Given the description of an element on the screen output the (x, y) to click on. 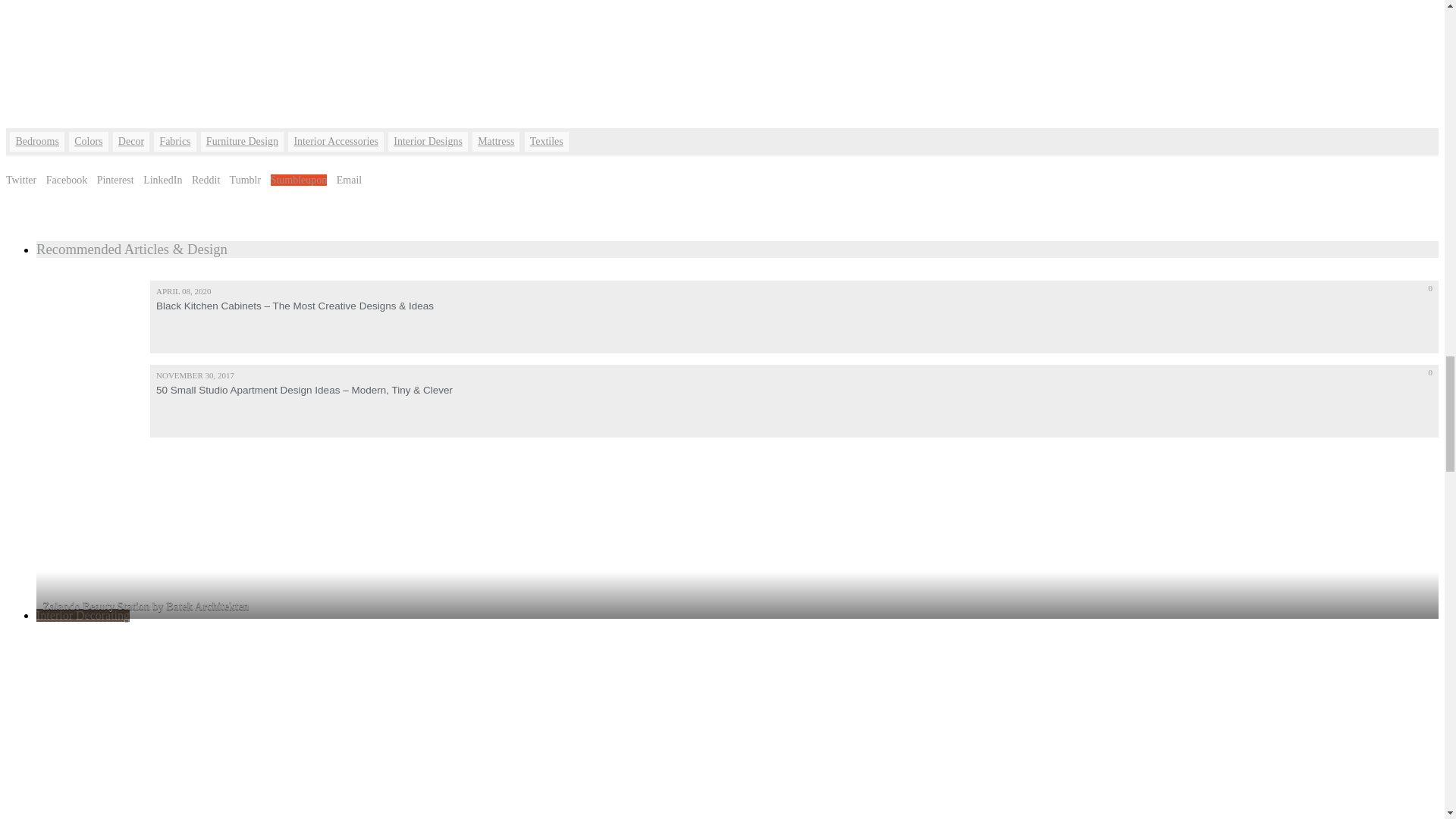
Furniture Design (241, 141)
Colors (87, 141)
Tweet It (20, 179)
Fabrics (174, 141)
Interior Designs (427, 141)
Mattress (495, 141)
Share on Facebook (66, 179)
Bedrooms (37, 141)
Pinterest (115, 179)
Share on Pinterest (115, 179)
Twitter (20, 179)
Decor (131, 141)
Culture Of Good Sleep (722, 48)
Facebook (66, 179)
Share on LinkedIn (162, 179)
